Given the description of an element on the screen output the (x, y) to click on. 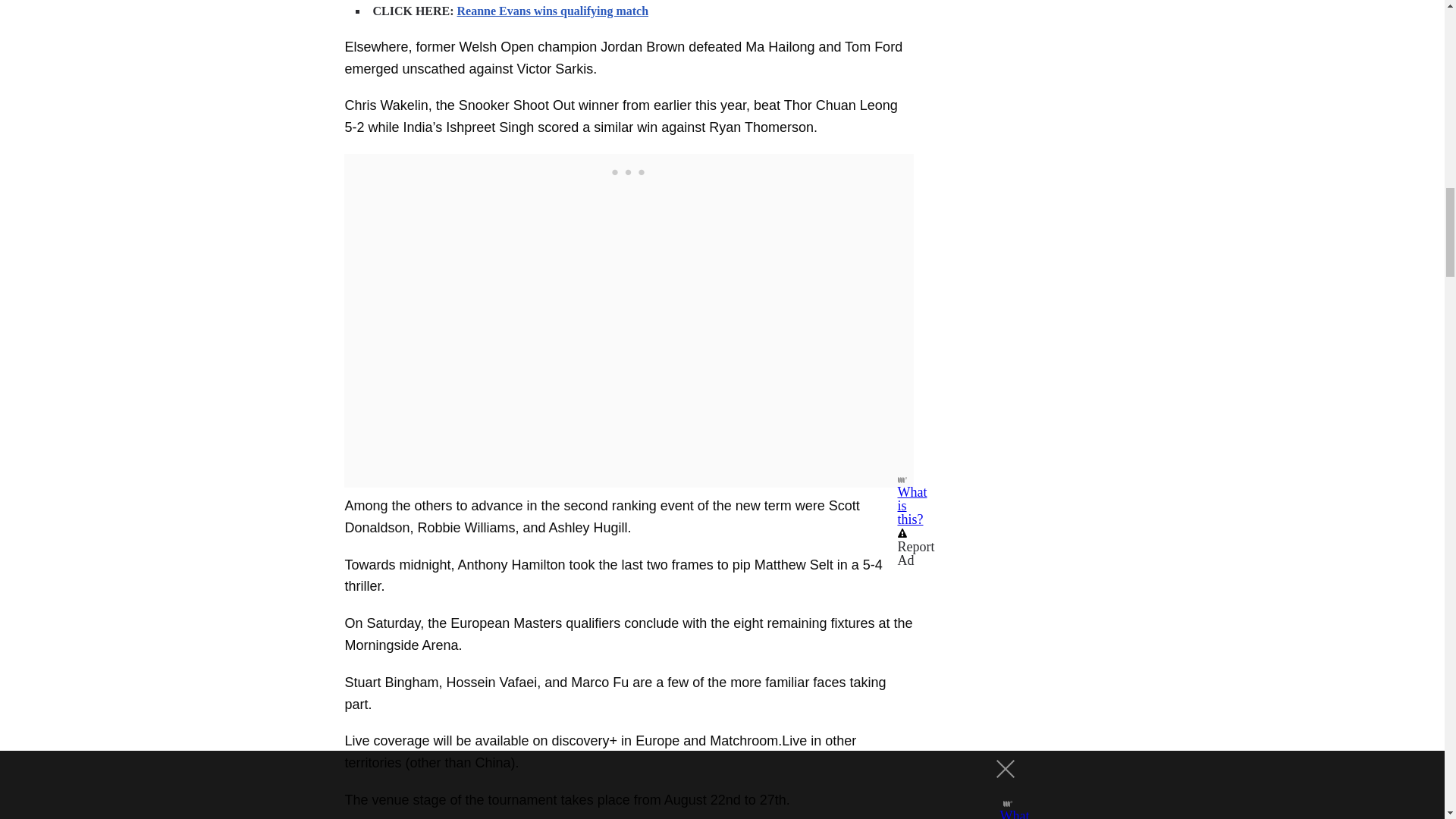
3rd party ad content (627, 172)
